Given the description of an element on the screen output the (x, y) to click on. 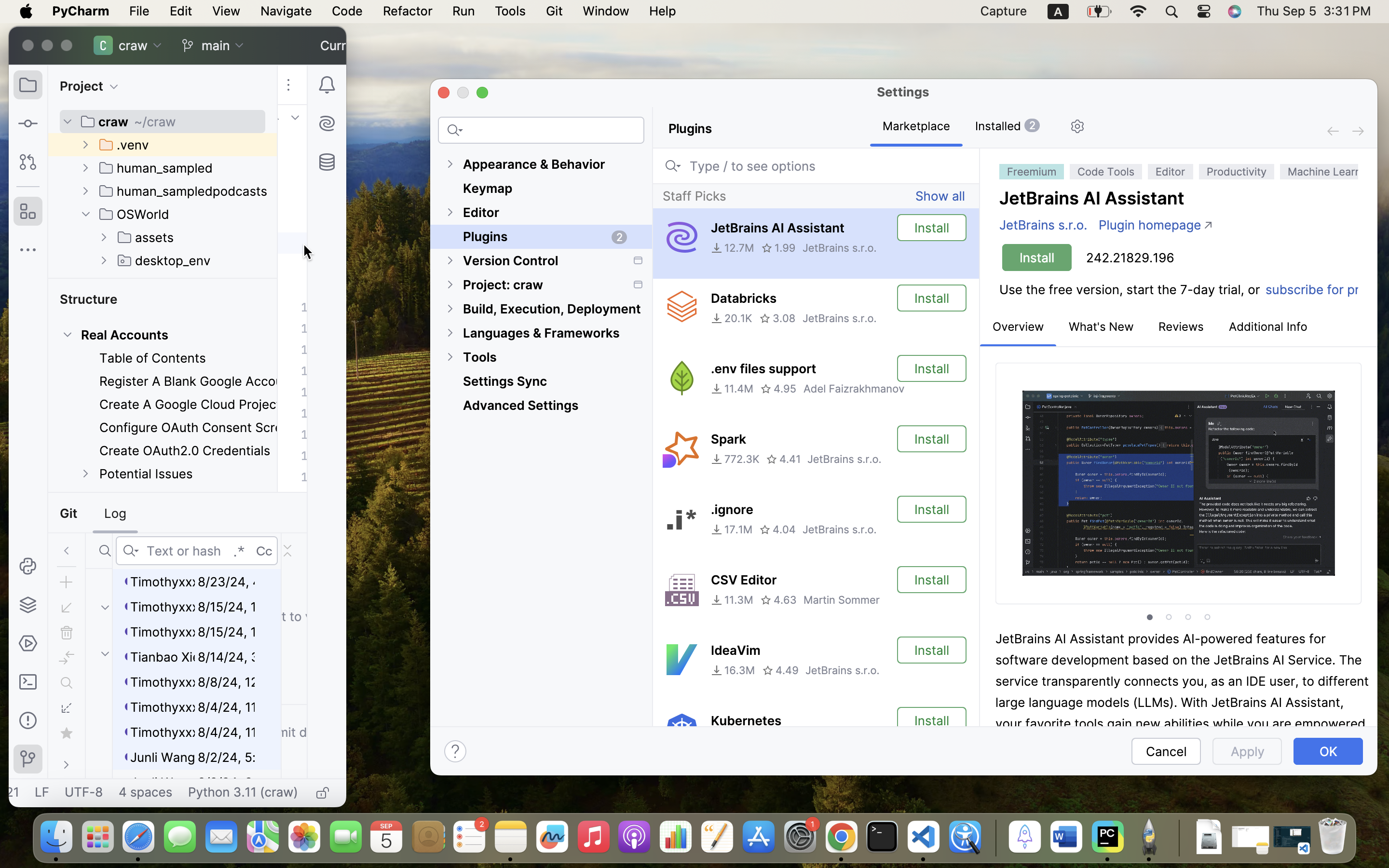
16.3M Element type: AXStaticText (732, 670)
3.08 Element type: AXStaticText (777, 318)
<AXUIElement 0x10c606480> {pid=4021} Element type: AXTabGroup (1178, 514)
